Given the description of an element on the screen output the (x, y) to click on. 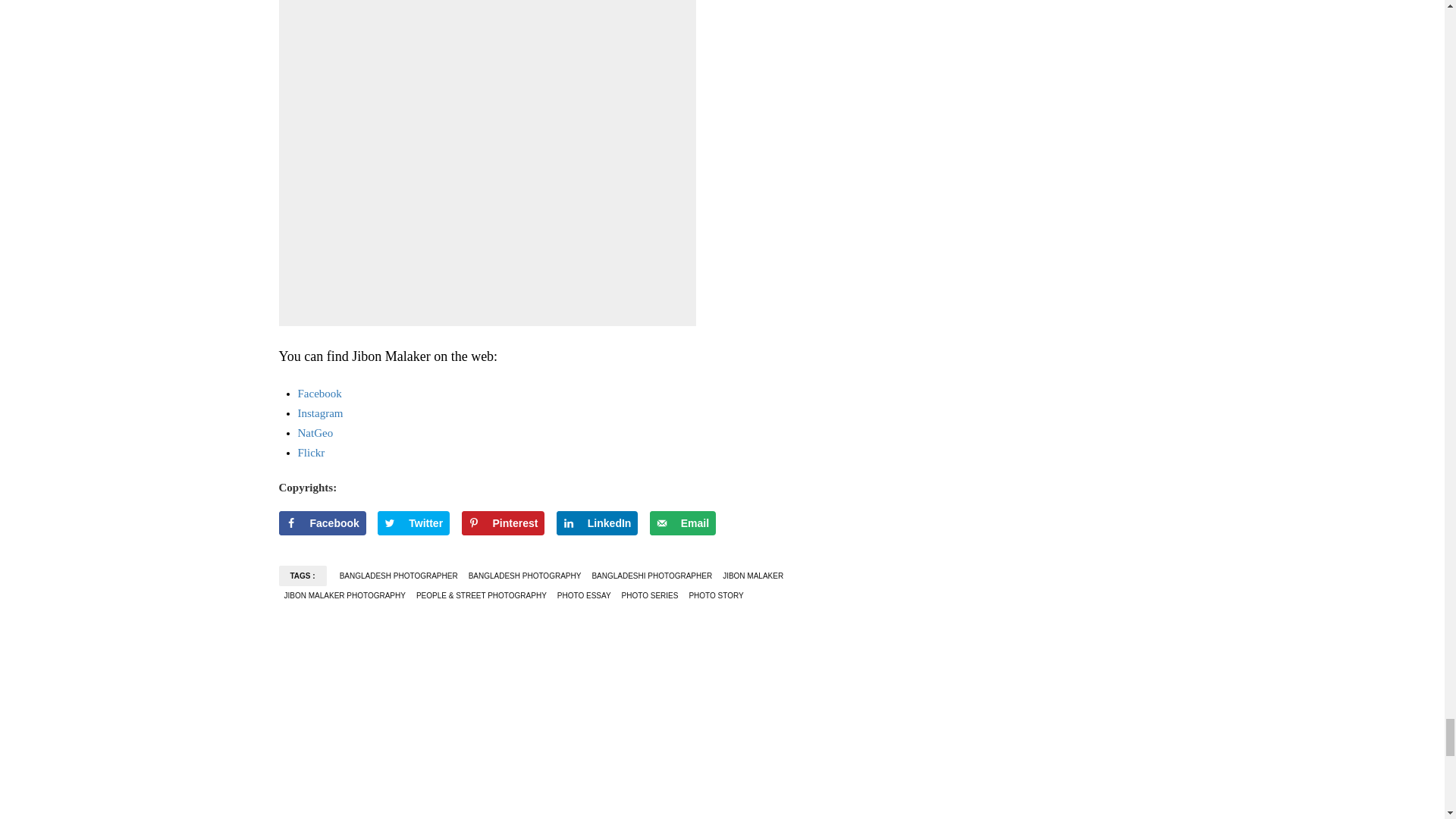
Save to Pinterest (502, 523)
Share on Facebook (322, 523)
Share on LinkedIn (597, 523)
Send over email (682, 523)
Share on Twitter (413, 523)
